Given the description of an element on the screen output the (x, y) to click on. 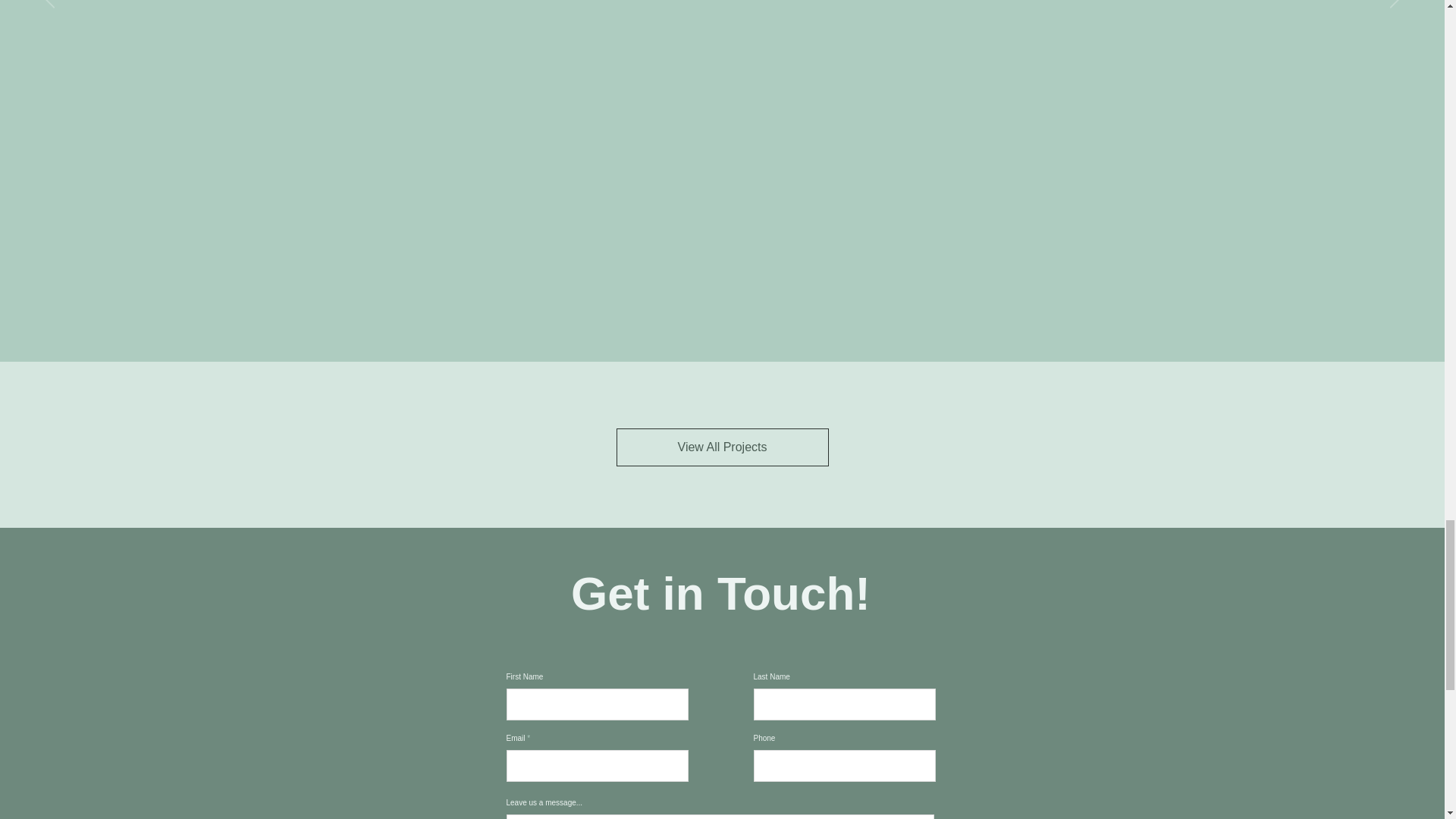
View All Projects (721, 447)
